Given the description of an element on the screen output the (x, y) to click on. 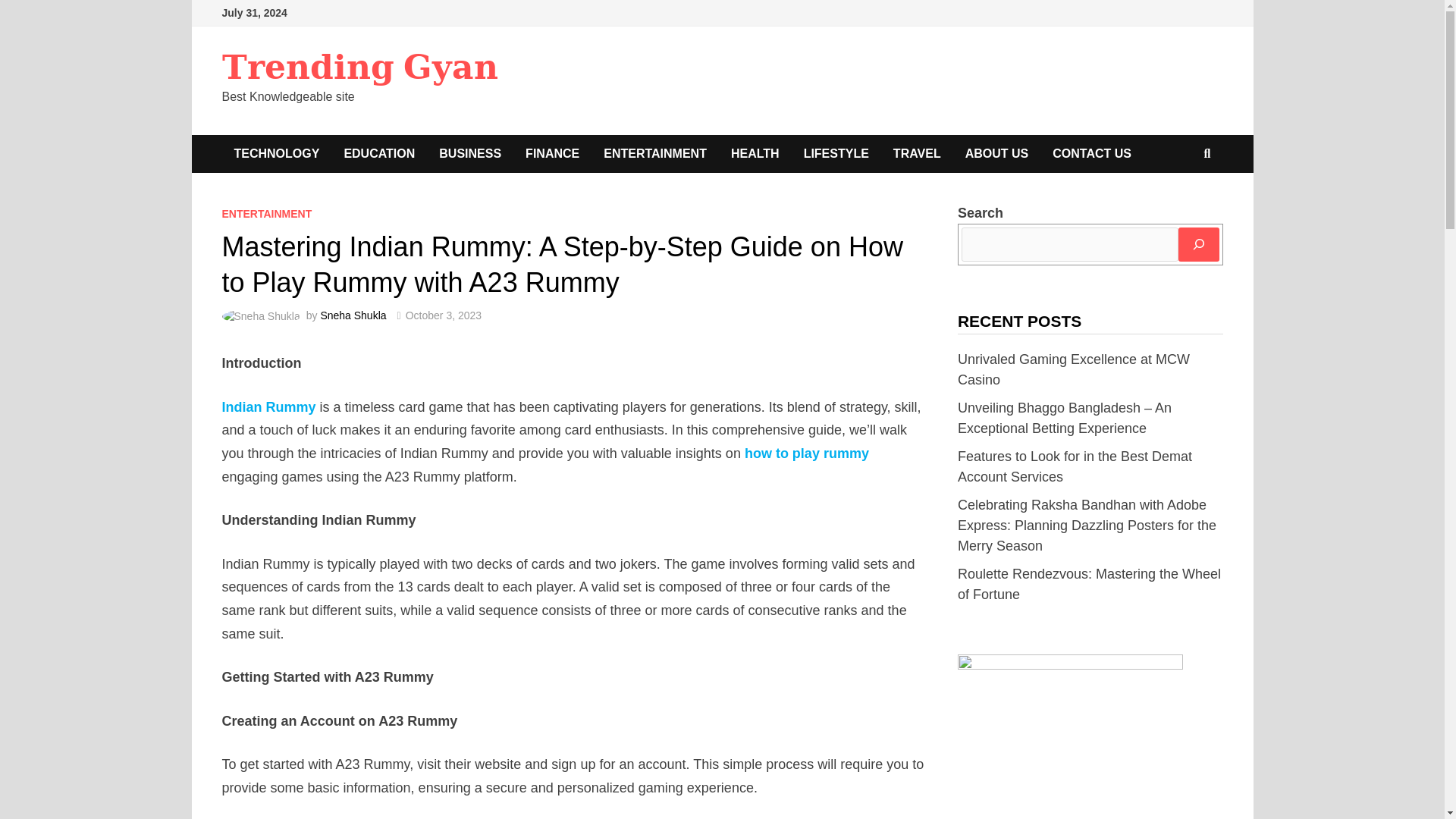
Indian Rummy (268, 406)
ABOUT US (997, 153)
how to play rummy (806, 453)
October 3, 2023 (443, 315)
LIFESTYLE (836, 153)
TECHNOLOGY (276, 153)
FINANCE (552, 153)
TRAVEL (916, 153)
BUSINESS (469, 153)
ENTERTAINMENT (266, 214)
CONTACT US (1091, 153)
HEALTH (755, 153)
Sneha Shukla (352, 315)
ENTERTAINMENT (655, 153)
EDUCATION (378, 153)
